Given the description of an element on the screen output the (x, y) to click on. 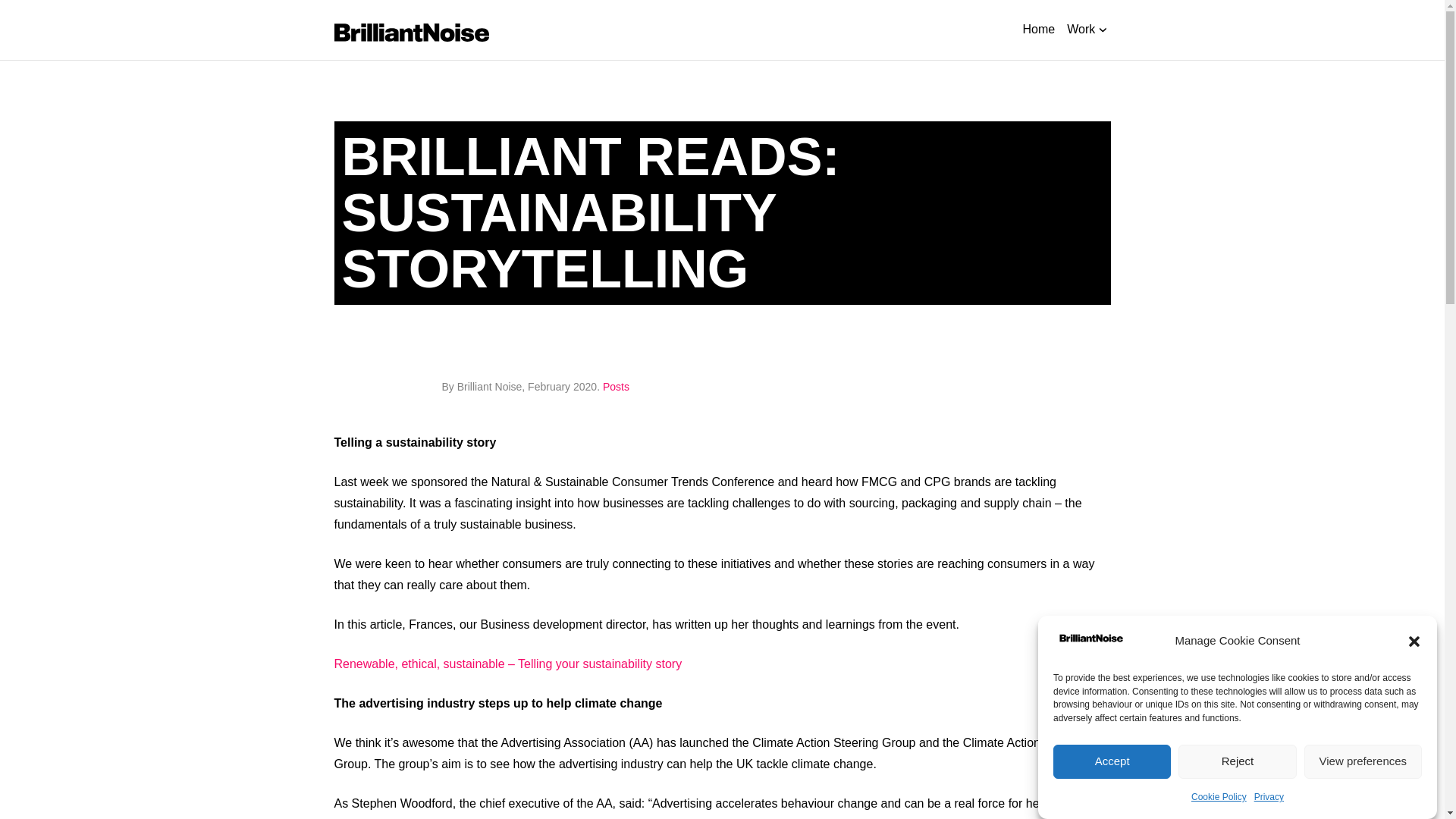
Work (1085, 29)
Posts (615, 386)
Home (1038, 29)
